Given the description of an element on the screen output the (x, y) to click on. 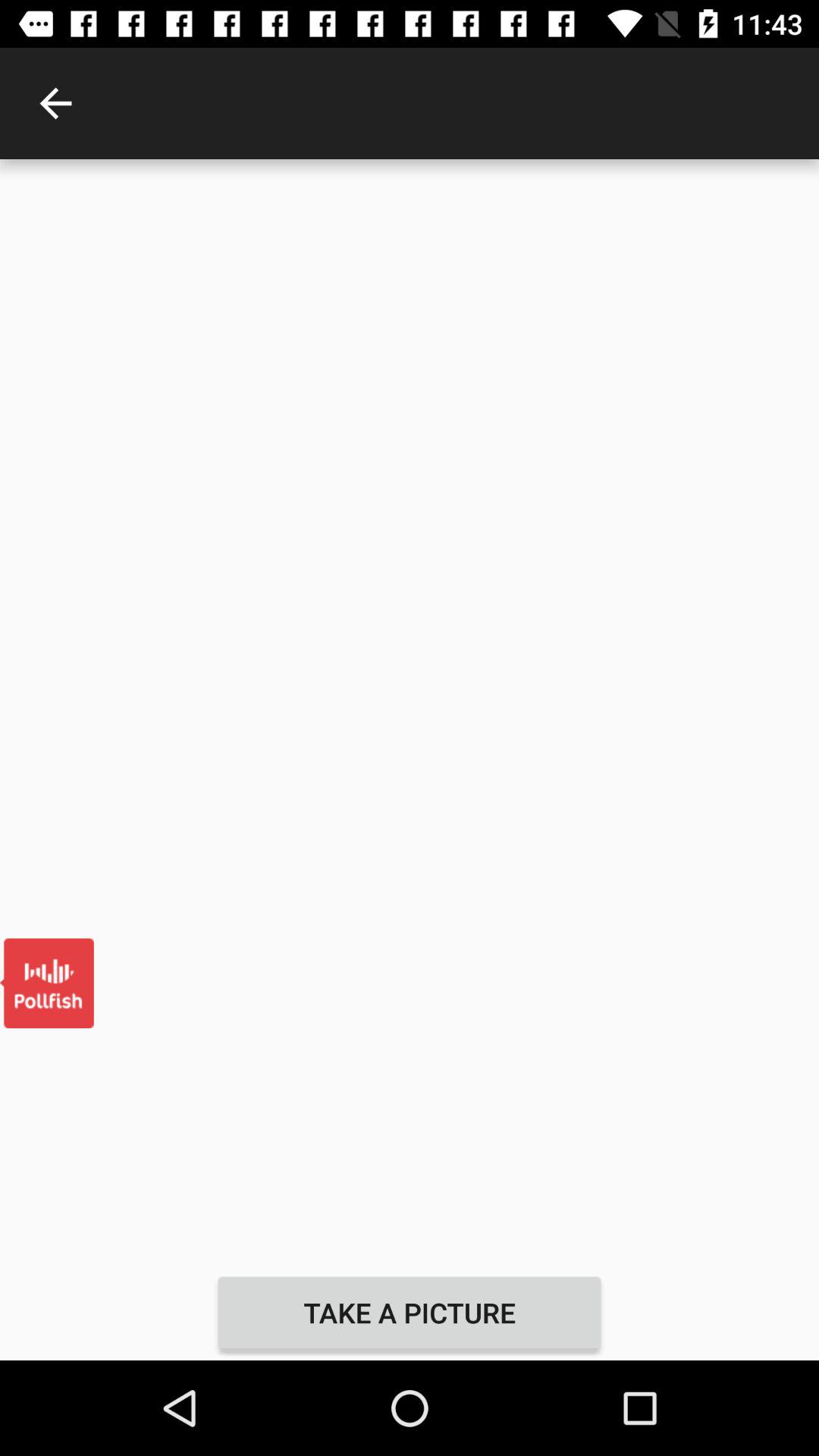
launch icon above take a picture icon (409, 711)
